Given the description of an element on the screen output the (x, y) to click on. 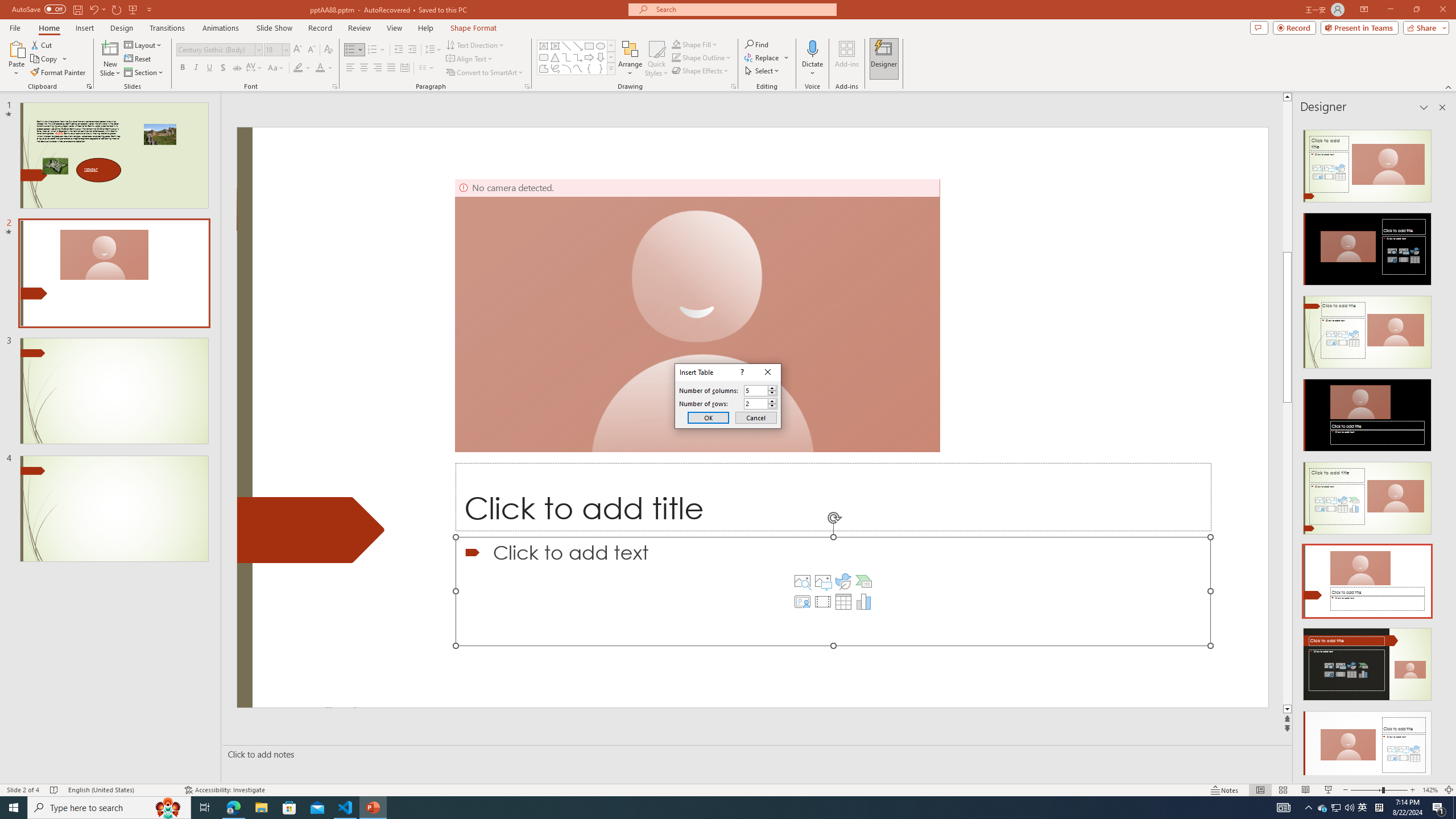
Content Placeholder (832, 591)
